Given the description of an element on the screen output the (x, y) to click on. 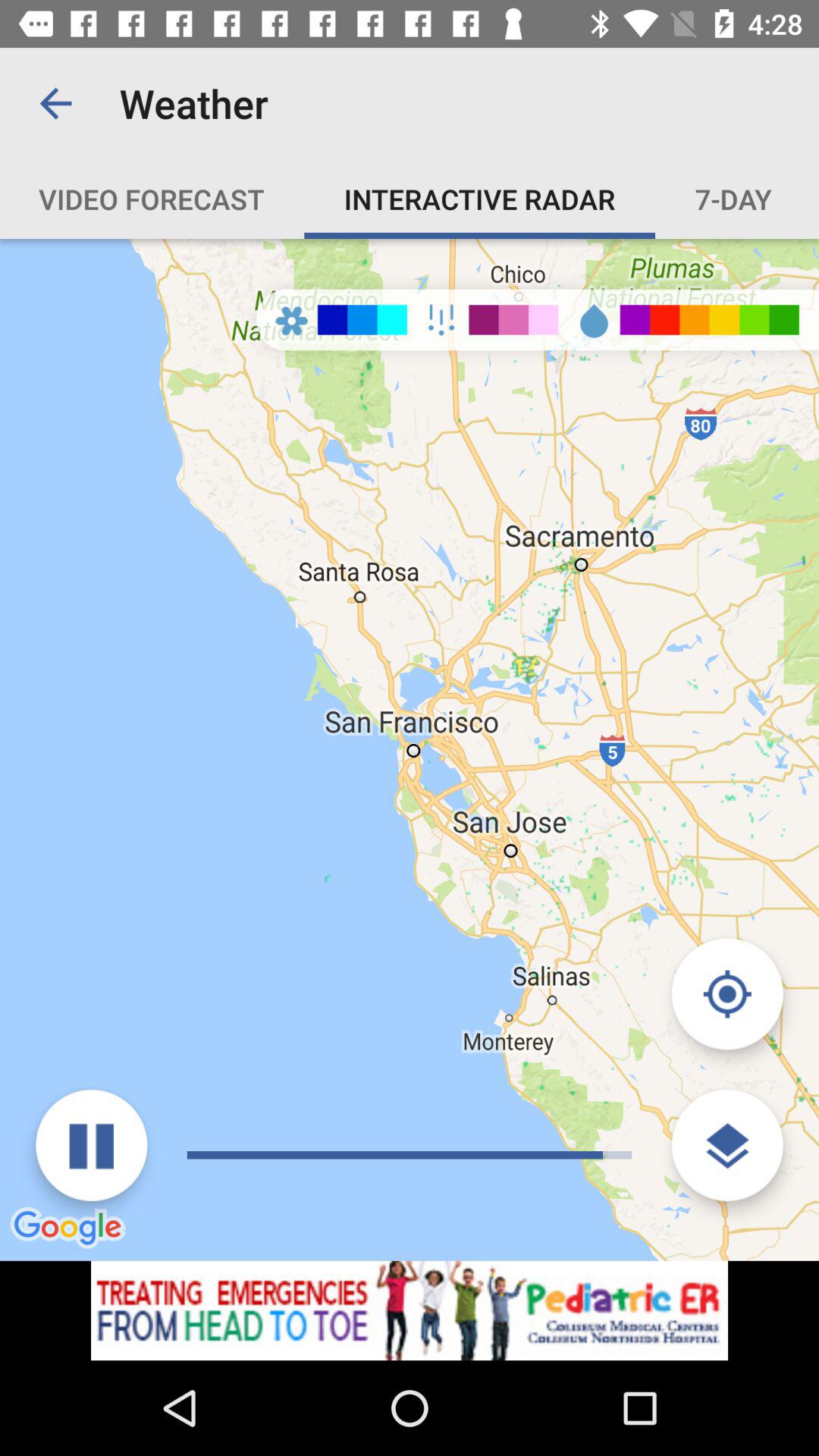
play button (91, 1145)
